Given the description of an element on the screen output the (x, y) to click on. 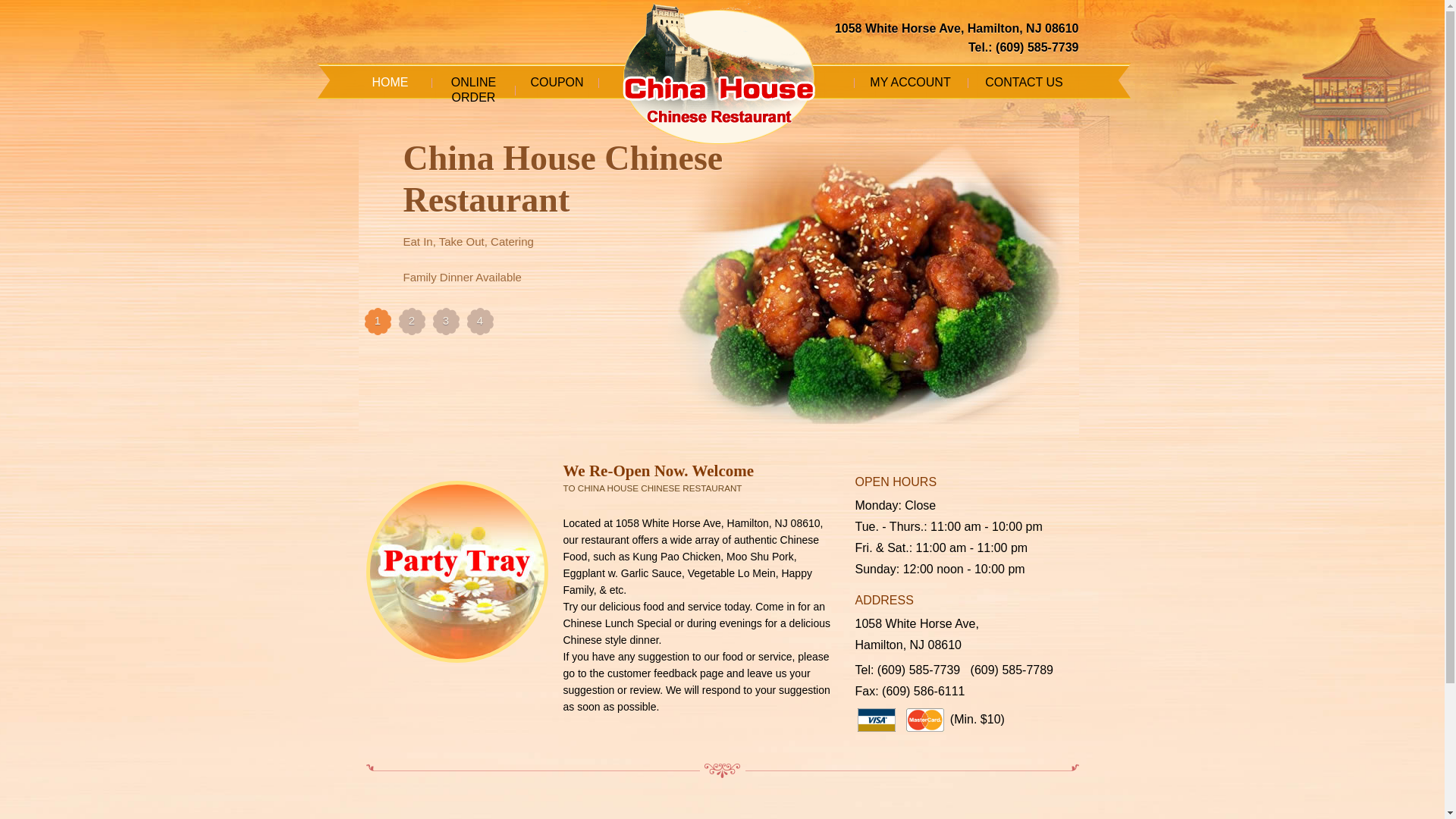
ONLINE ORDER (473, 90)
4 (480, 320)
2 (411, 320)
1 (377, 320)
MY ACCOUNT (910, 82)
COUPON (556, 82)
HOME (390, 82)
3 (445, 320)
CONTACT US (1024, 82)
